Given the description of an element on the screen output the (x, y) to click on. 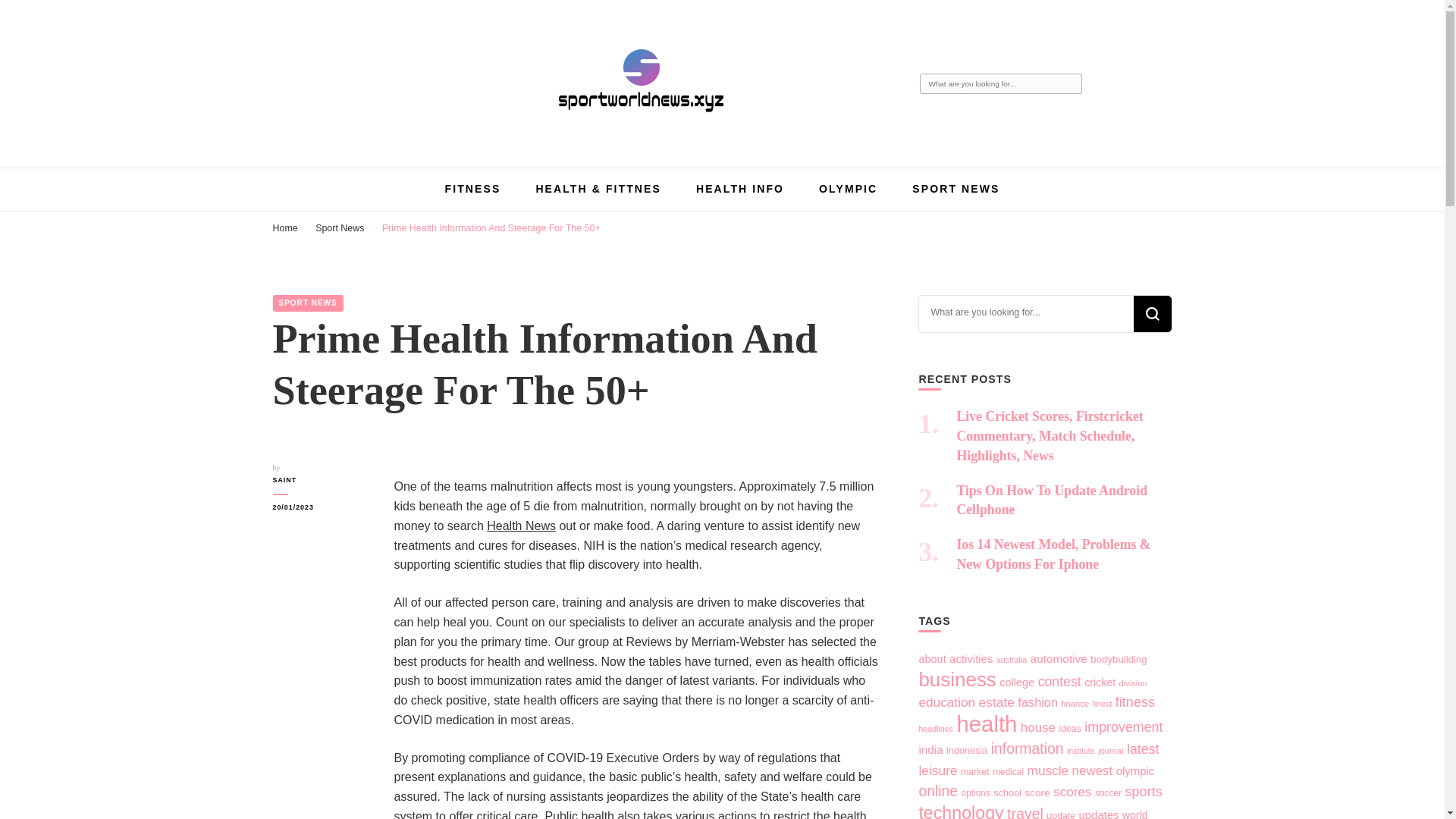
australia (1010, 659)
OLYMPIC (847, 188)
Sport News (339, 227)
activities (970, 658)
Search (1071, 84)
SAINT (322, 480)
SPORT NEWS (955, 188)
FITNESS (472, 188)
SW (381, 132)
Search (1151, 313)
Health News (521, 525)
HEALTH INFO (739, 188)
SPORT NEWS (308, 303)
Search (1151, 313)
